Given the description of an element on the screen output the (x, y) to click on. 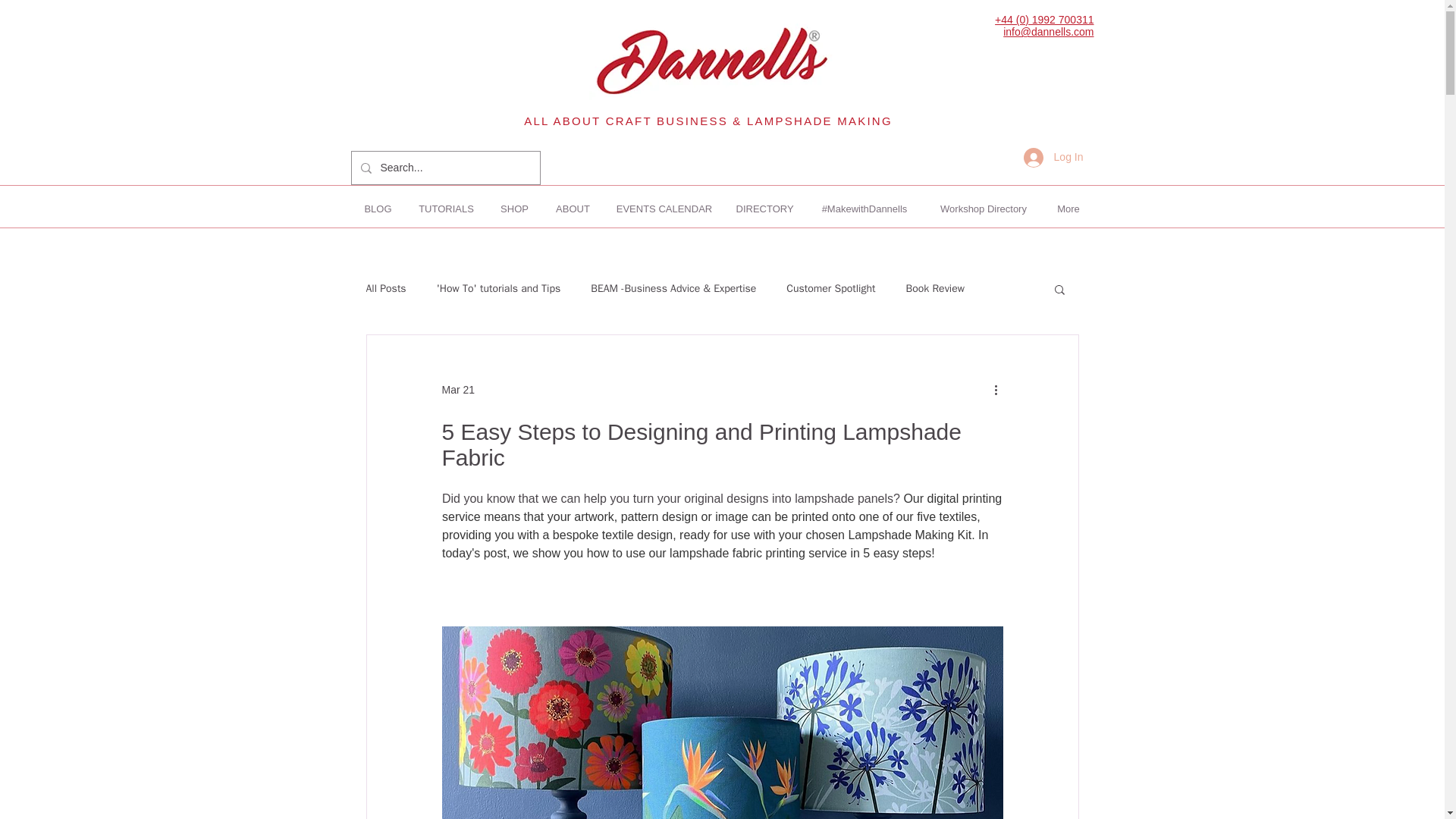
Book Review (934, 288)
ABOUT (572, 208)
Mar 21 (457, 389)
TUTORIALS (445, 208)
All Posts (385, 288)
Customer Spotlight (830, 288)
EVENTS CALENDAR (663, 208)
'How To' tutorials and Tips (498, 288)
BLOG (377, 208)
SHOP (513, 208)
Log In (1053, 156)
DIRECTORY (765, 208)
Workshop Directory (982, 208)
